Given the description of an element on the screen output the (x, y) to click on. 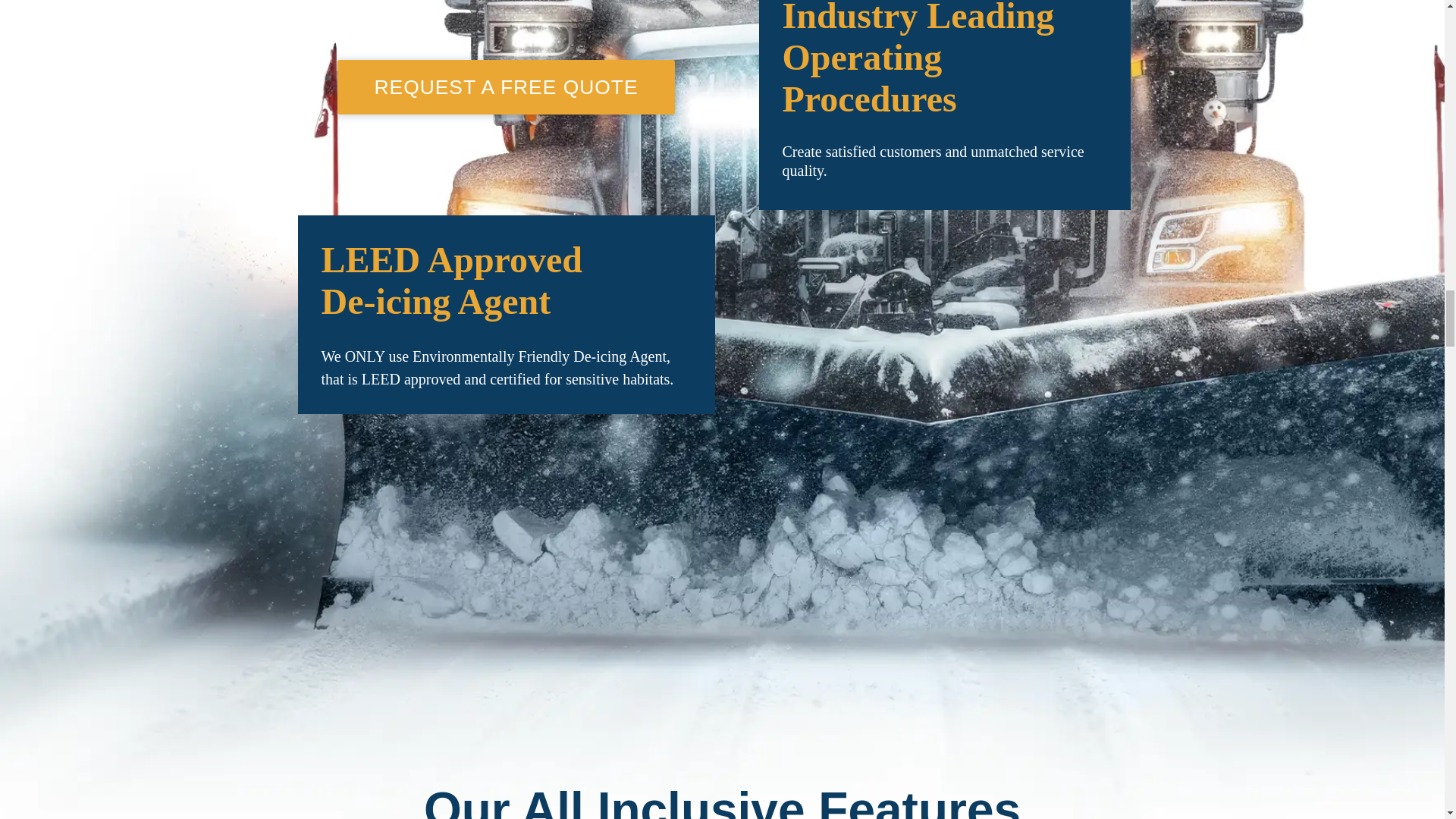
REQUEST A FREE QUOTE (505, 86)
